Given the description of an element on the screen output the (x, y) to click on. 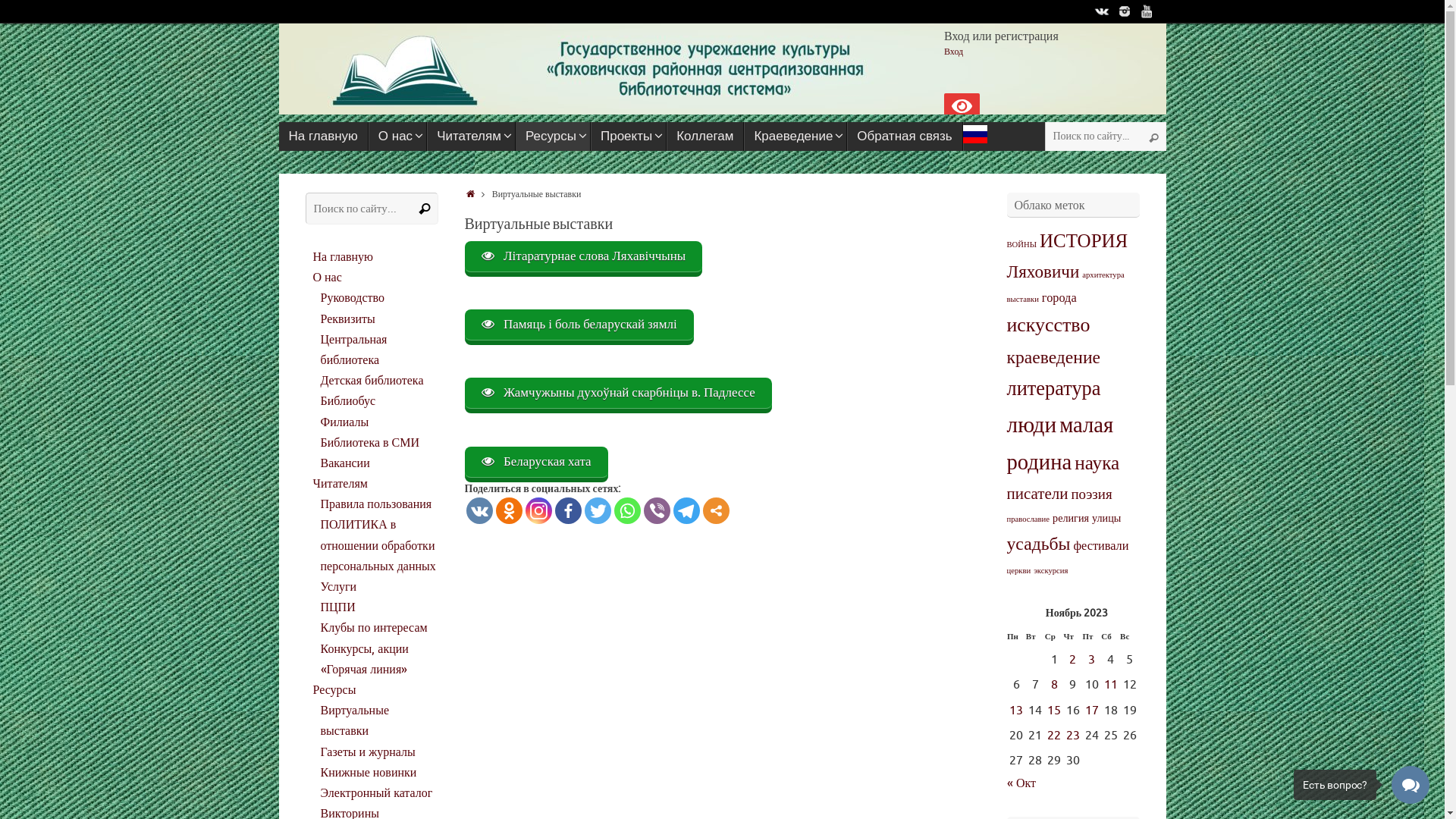
2 Element type: text (1072, 659)
Viber Element type: hover (656, 510)
Whatsapp Element type: hover (627, 510)
17 Element type: text (1091, 710)
11 Element type: text (1110, 684)
Instagram Element type: hover (1124, 11)
15 Element type: text (1053, 710)
VK Element type: hover (1101, 11)
More Element type: hover (715, 510)
23 Element type: text (1072, 735)
Telegram Element type: hover (686, 510)
13 Element type: text (1015, 710)
22 Element type: text (1053, 735)
Twitter Element type: hover (596, 510)
Facebook Element type: hover (568, 510)
Instagram Element type: hover (537, 510)
3 Element type: text (1091, 659)
8 Element type: text (1054, 684)
Vkontakte Element type: hover (478, 510)
YouTube Element type: hover (1146, 11)
Odnoklassniki Element type: hover (508, 510)
